Given the description of an element on the screen output the (x, y) to click on. 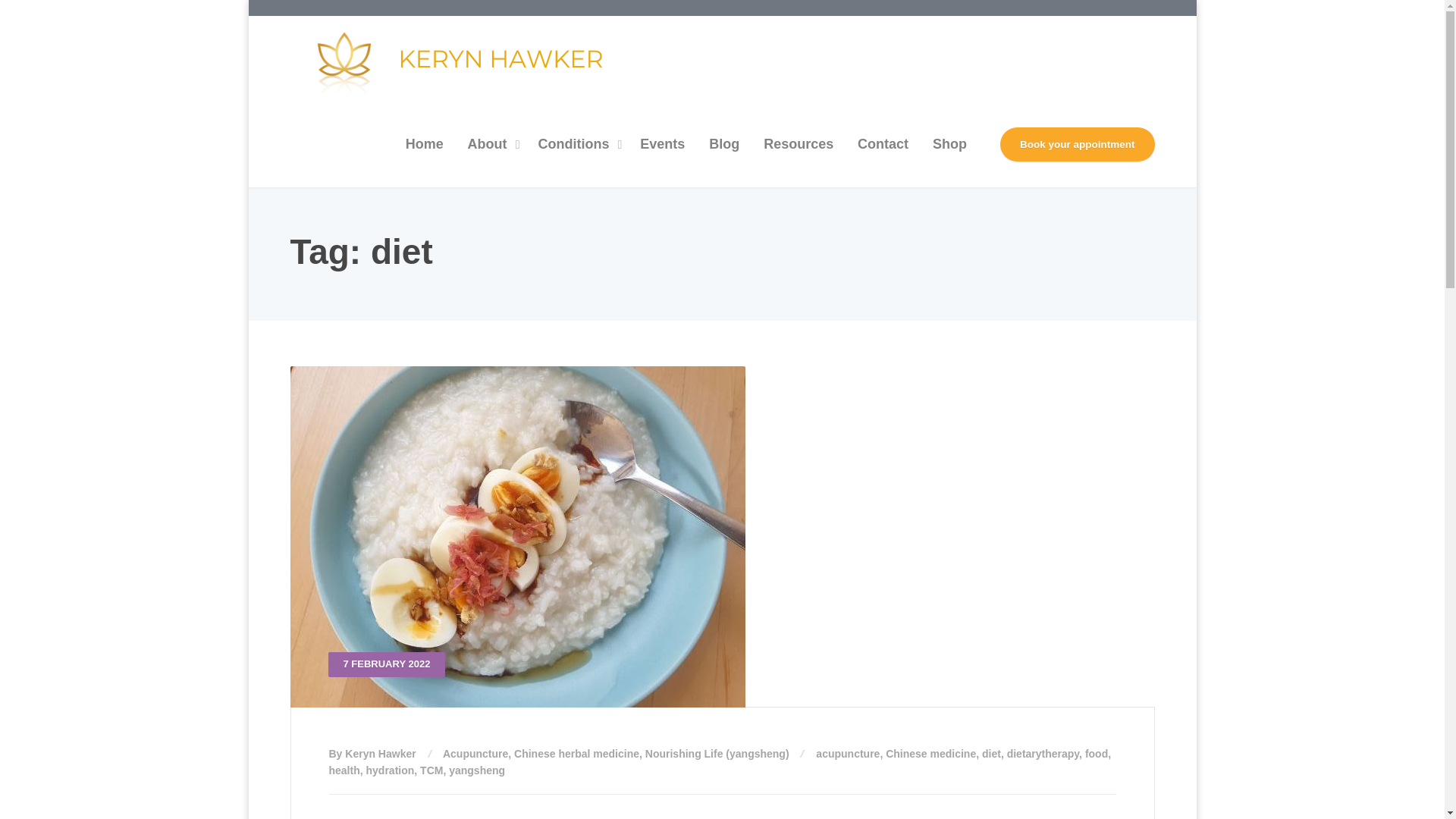
Acupuncture (475, 753)
TCM (431, 770)
health (344, 770)
acupuncture (847, 753)
dietarytherapy (1042, 753)
Conditions (576, 144)
food (1096, 753)
yangsheng (476, 770)
Chinese herbal medicine (576, 753)
Resources (798, 144)
diet (991, 753)
Book your appointment (1077, 144)
hydration (390, 770)
